Given the description of an element on the screen output the (x, y) to click on. 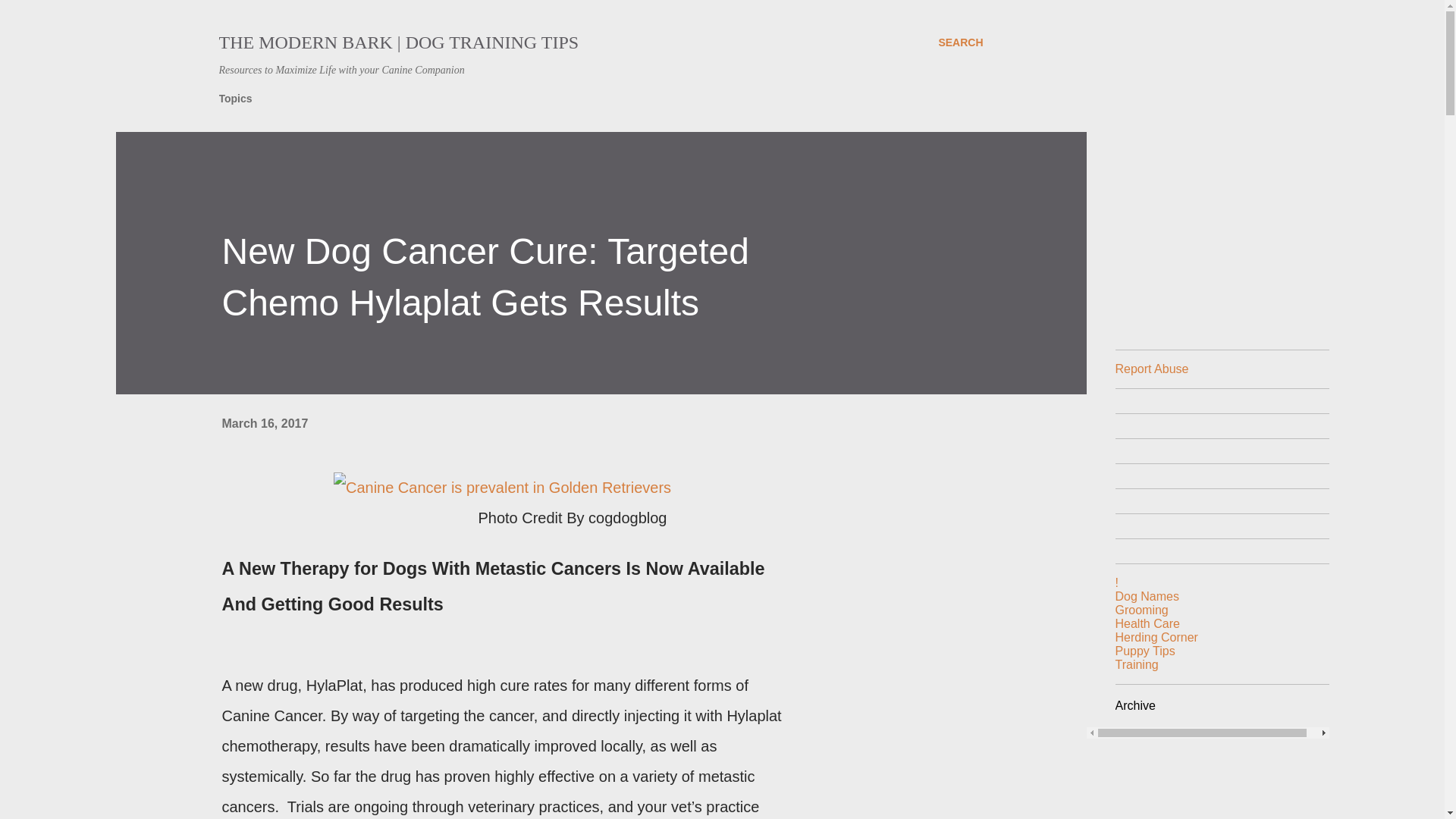
Golden Retrievers are a breed with high cancer rates (502, 487)
SEARCH (959, 42)
permanent link (264, 422)
March 16, 2017 (264, 422)
